Given the description of an element on the screen output the (x, y) to click on. 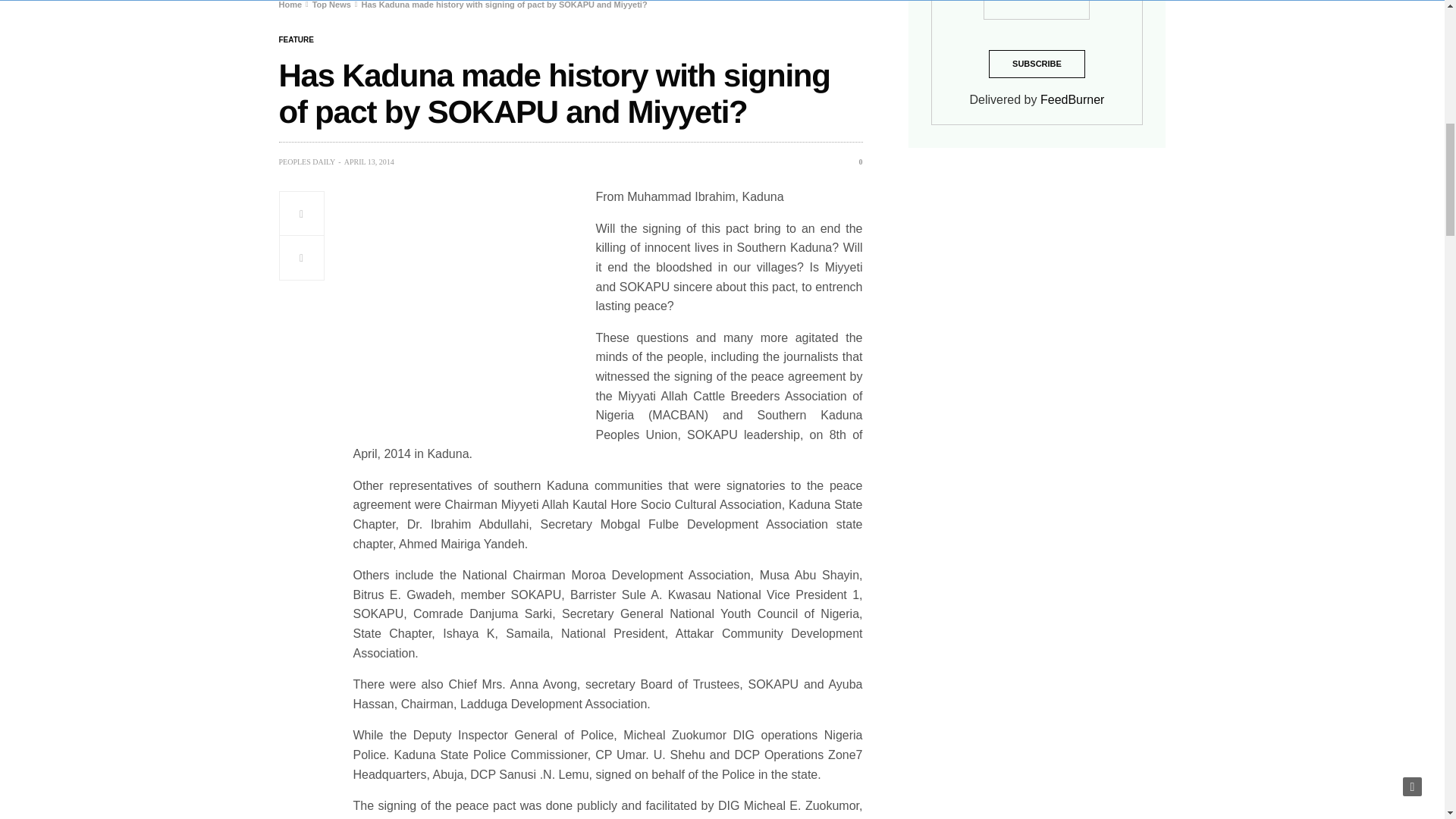
Feature (296, 40)
Posts by Peoples Daily (307, 162)
FEATURE (296, 40)
0 (855, 162)
Subscribe (1036, 63)
Home (290, 4)
Top News (331, 4)
PEOPLES DAILY (307, 162)
